Given the description of an element on the screen output the (x, y) to click on. 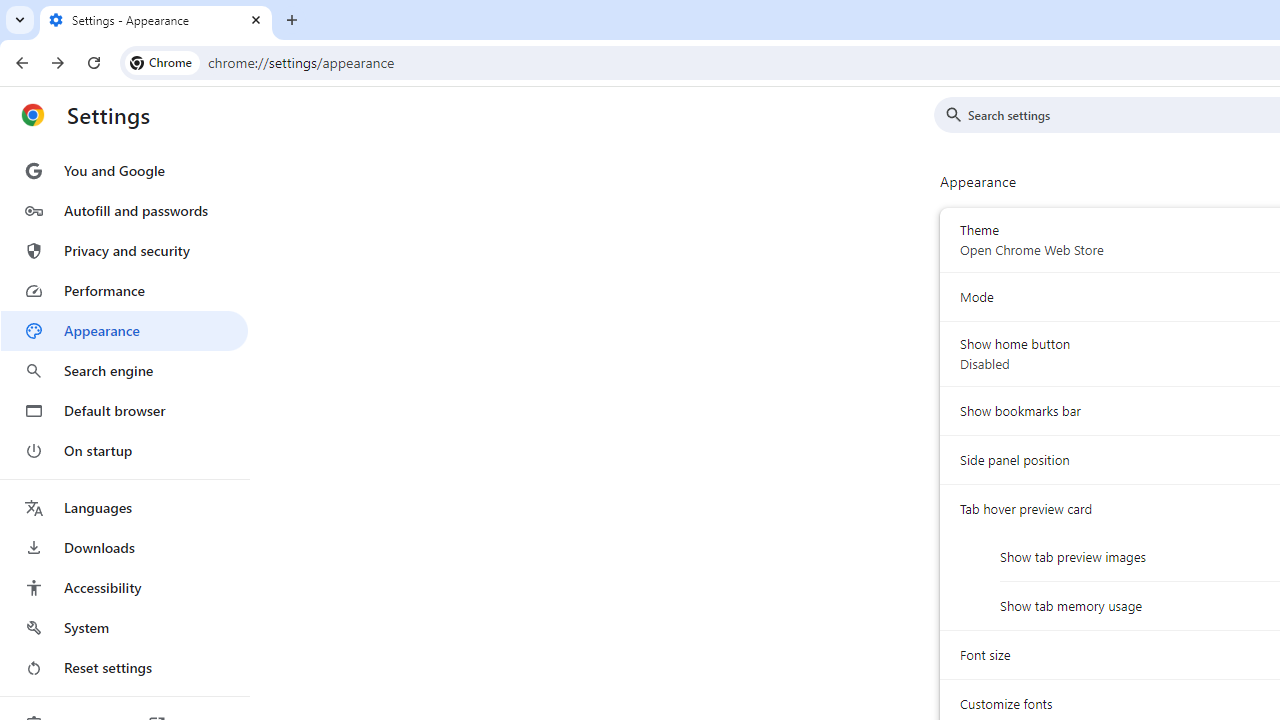
Downloads (124, 547)
Privacy and security (124, 250)
Performance (124, 290)
On startup (124, 450)
Reset settings (124, 668)
